Given the description of an element on the screen output the (x, y) to click on. 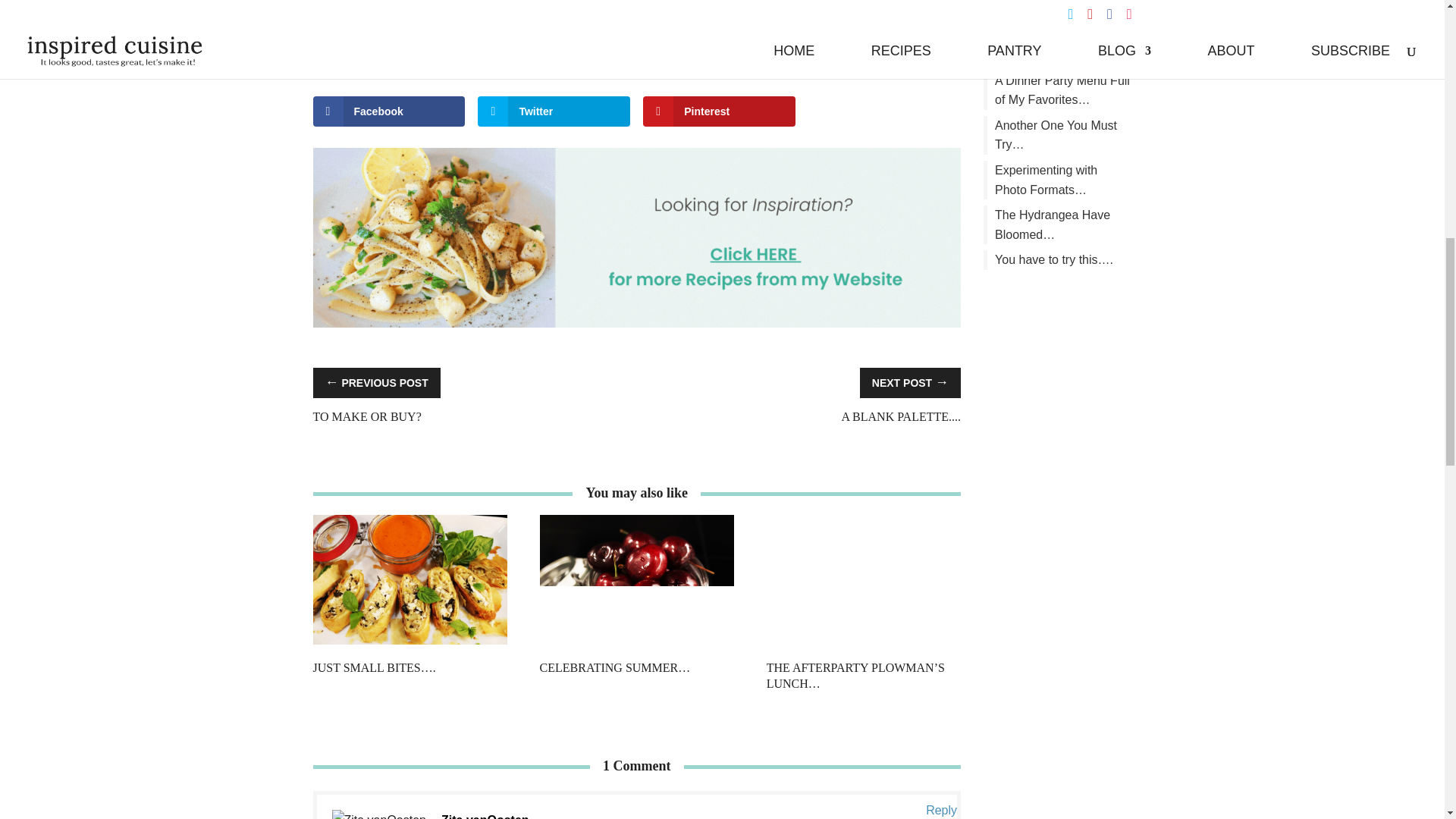
Pinterest (718, 111)
Facebook (388, 111)
Twitter (553, 111)
